Given the description of an element on the screen output the (x, y) to click on. 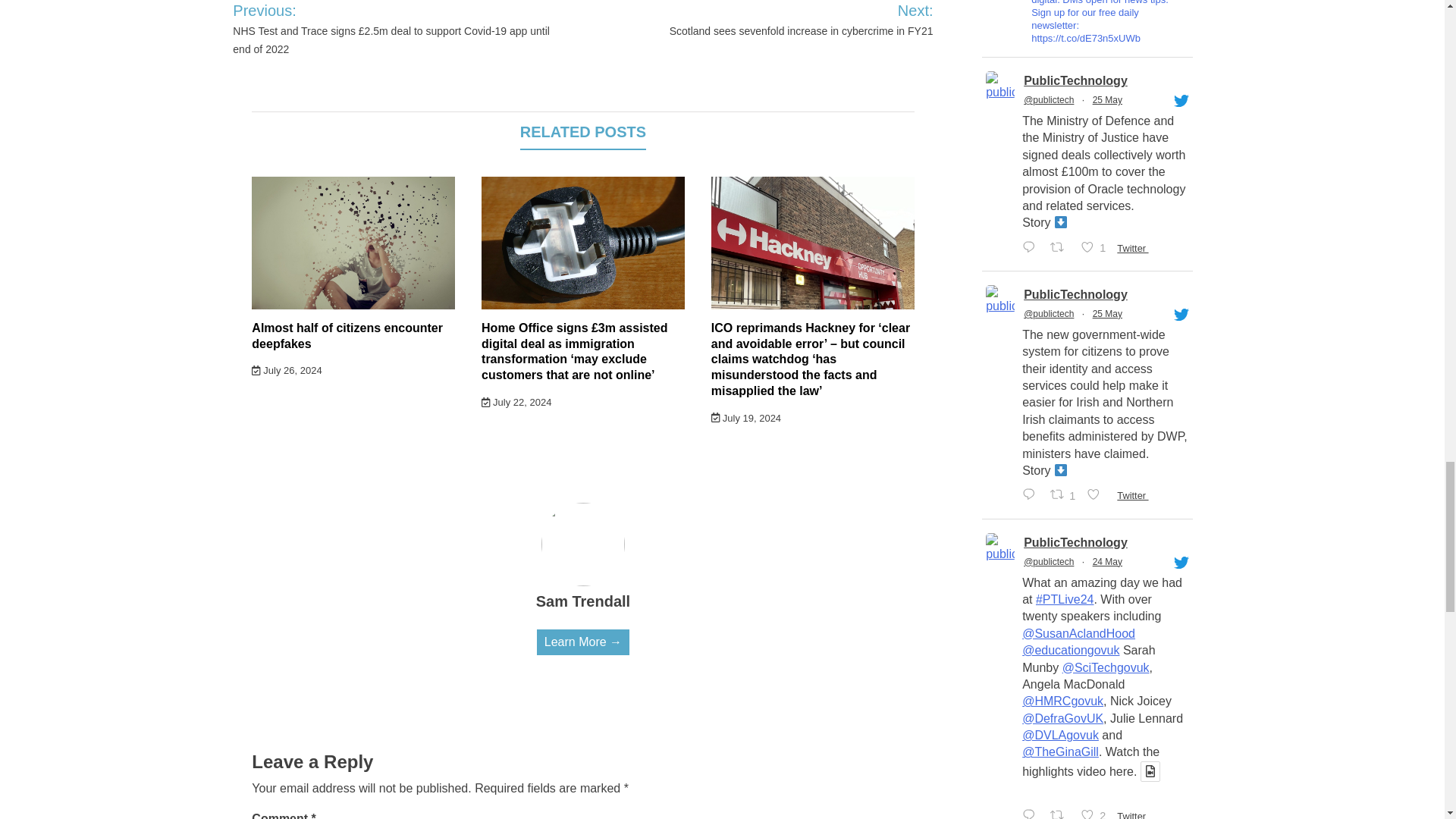
Next: Scotland sees sevenfold increase in cybercrime in FY21 (781, 20)
Almost half of citizens encounter deepfakes (346, 335)
July 26, 2024 (286, 369)
